Given the description of an element on the screen output the (x, y) to click on. 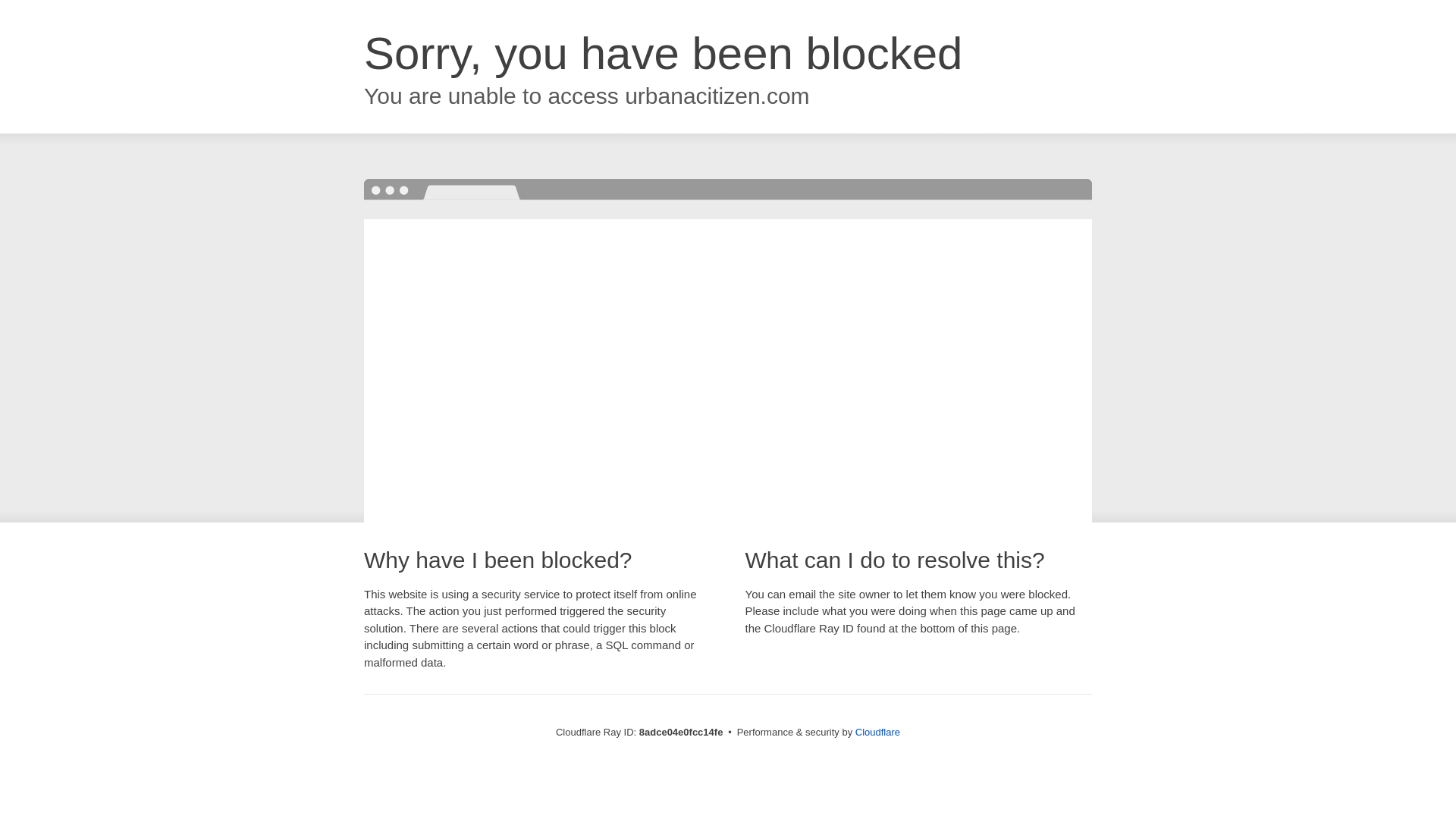
Cloudflare (877, 731)
